Given the description of an element on the screen output the (x, y) to click on. 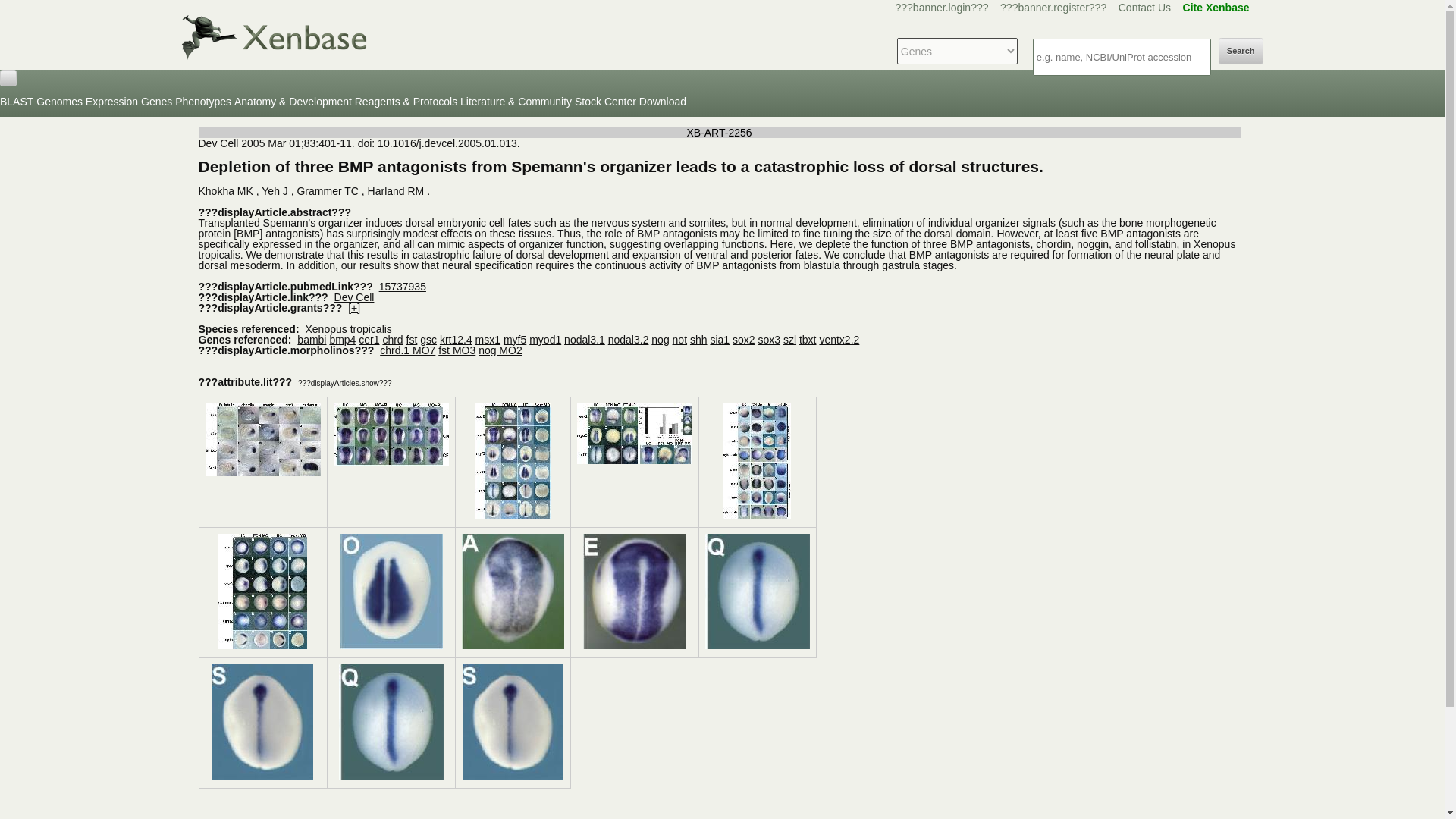
3105 (390, 461)
157162 (390, 645)
???banner.login??? (941, 7)
157163 (512, 645)
???banner.register??? (1053, 7)
Genes (156, 101)
Contact Us (1144, 7)
3107 (633, 460)
3109 (262, 645)
3106 (512, 514)
Xenbase Image (262, 439)
Cite Xenbase (1215, 7)
Xenbase Image (390, 591)
BLAST (16, 101)
Xenbase Image (633, 433)
